Given the description of an element on the screen output the (x, y) to click on. 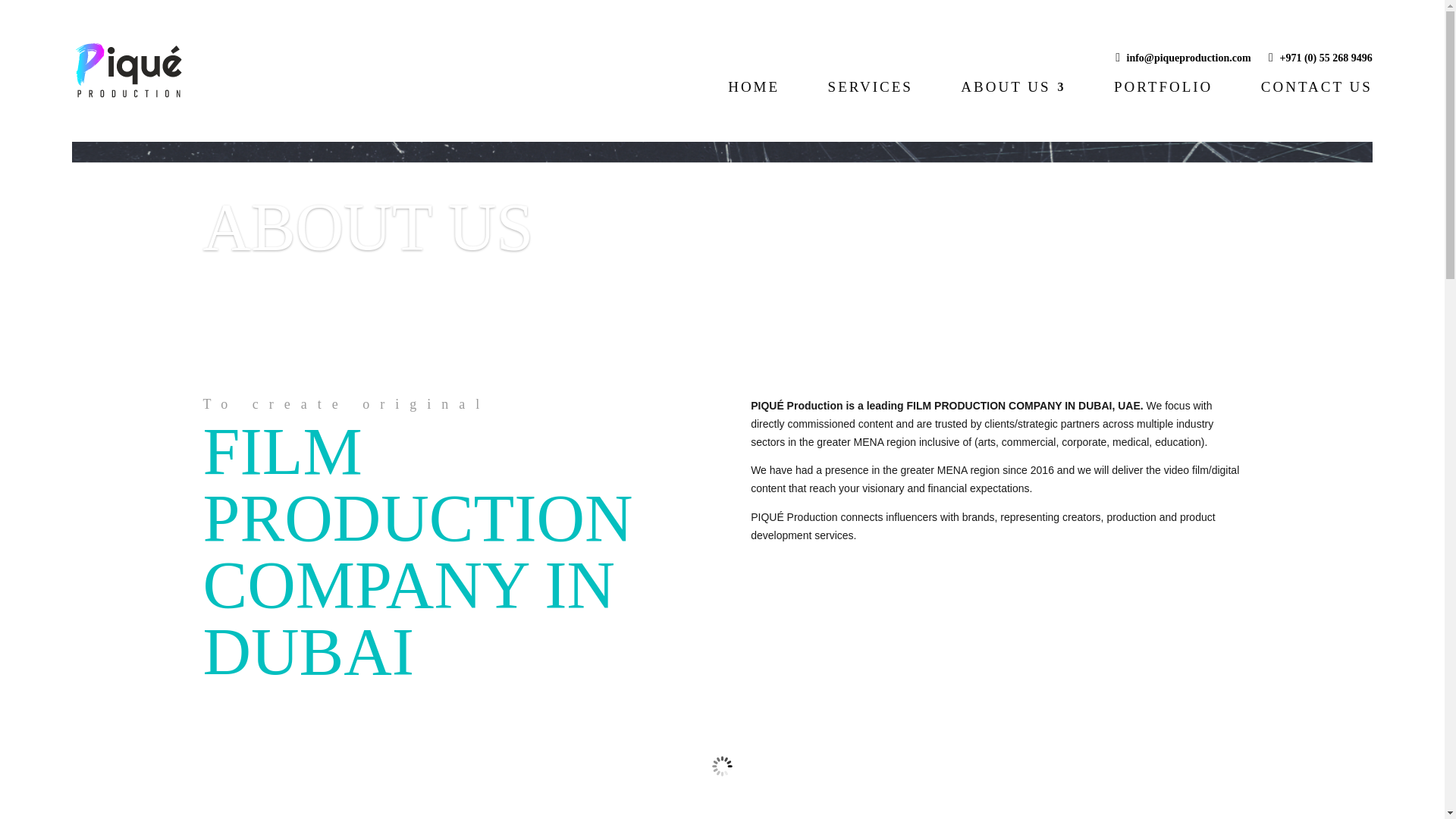
ABOUT US (1012, 111)
SERVICES (870, 111)
PORTFOLIO (1162, 111)
CONTACT US (1316, 111)
